Given the description of an element on the screen output the (x, y) to click on. 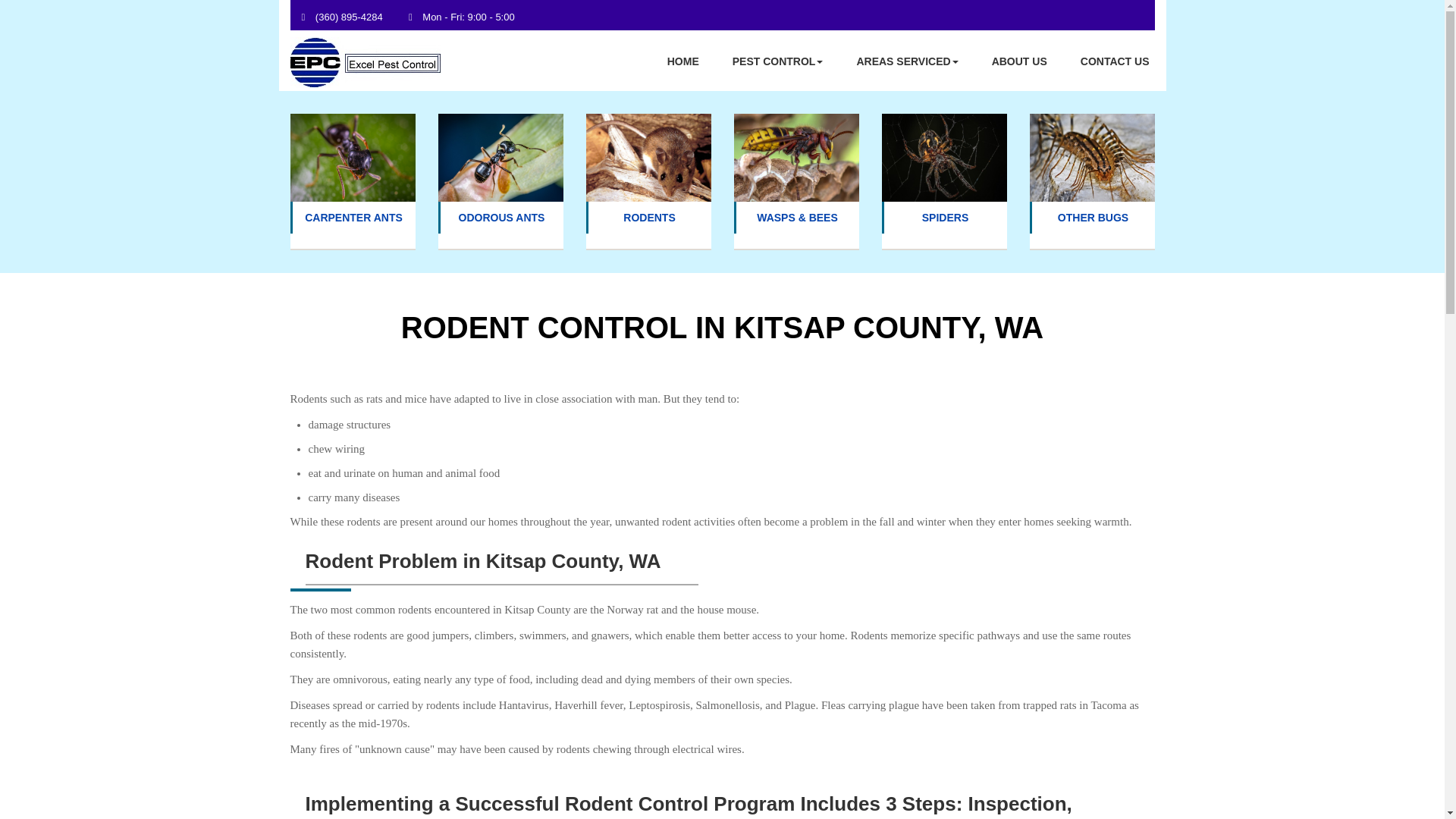
OTHER BUGS (1093, 217)
SPIDERS (944, 217)
RODENTS (649, 217)
HOME (683, 60)
ABOUT US (1019, 60)
CARPENTER ANTS (353, 217)
AREAS SERVICED (907, 60)
ODOROUS ANTS (501, 217)
CONTACT US (1115, 60)
PEST CONTROL (778, 60)
